Given the description of an element on the screen output the (x, y) to click on. 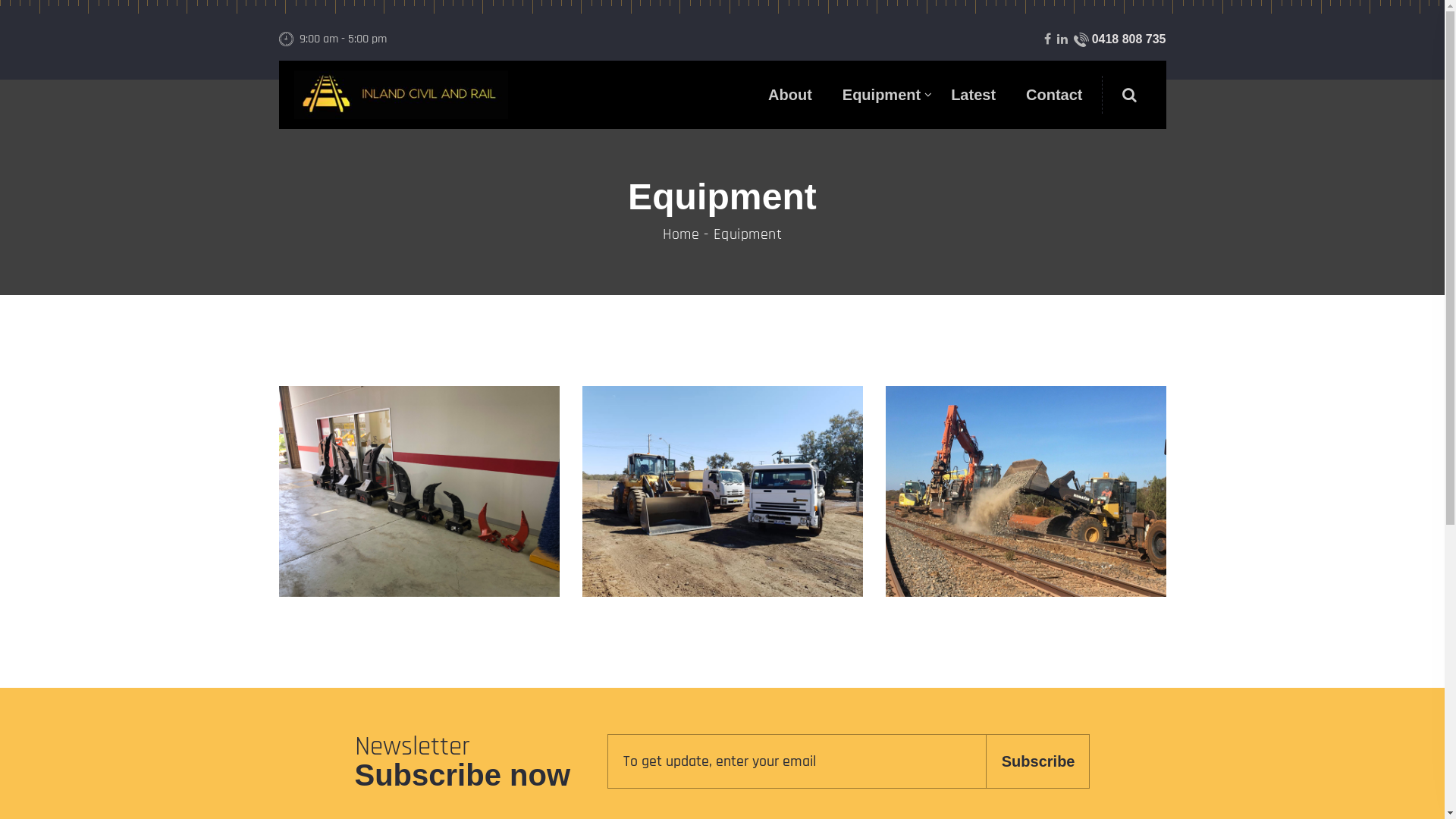
Latest Element type: text (972, 94)
0418 808 735 Element type: text (1119, 39)
Subscribe Element type: text (1037, 760)
About Element type: text (790, 94)
Home Element type: text (680, 233)
Equipment Element type: text (881, 94)
Contact Element type: text (1054, 94)
